Given the description of an element on the screen output the (x, y) to click on. 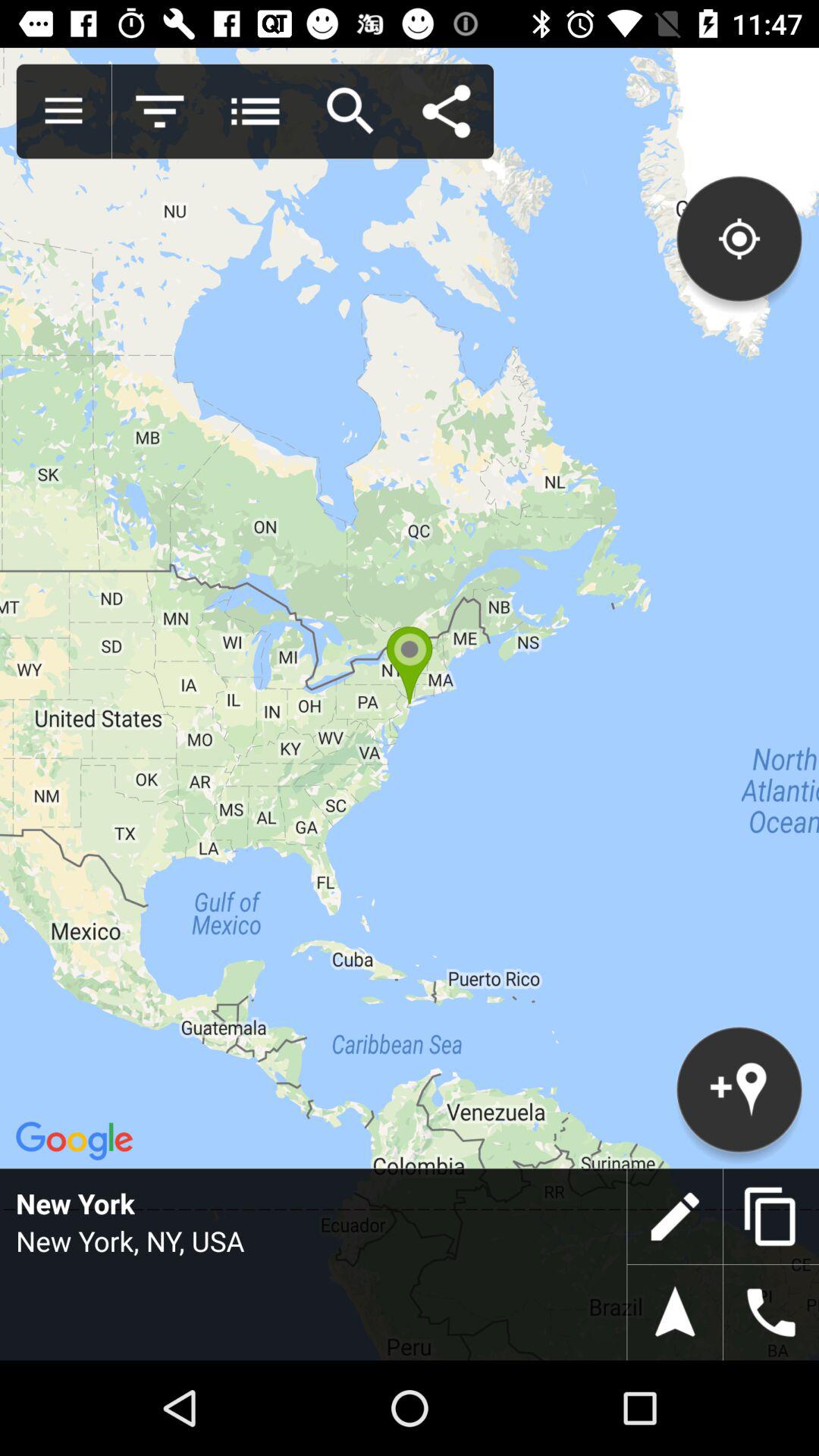
share location (446, 111)
